Given the description of an element on the screen output the (x, y) to click on. 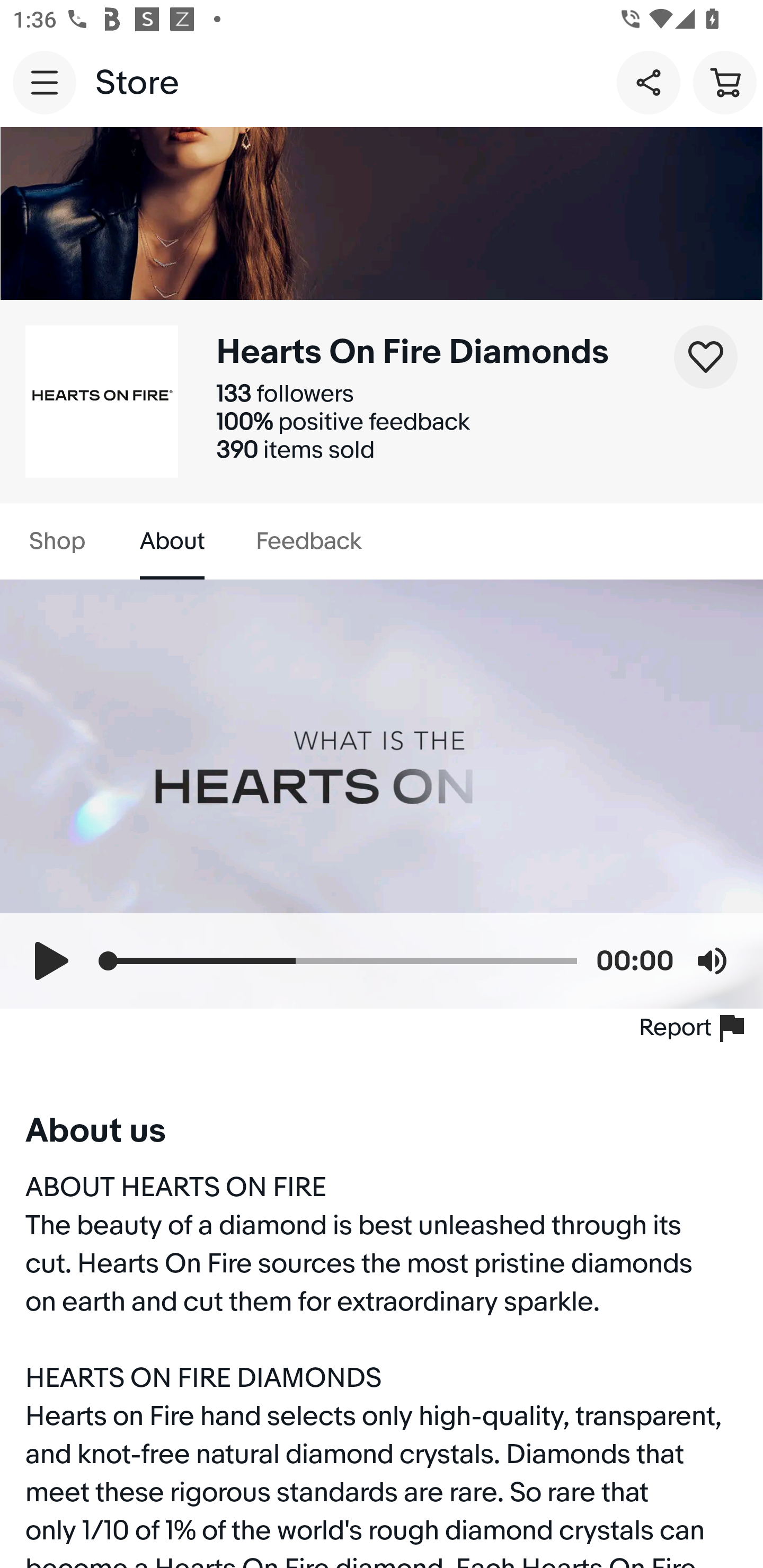
Main navigation, open (44, 82)
Share this page (648, 81)
Cart button shopping cart (724, 81)
Save this seller hearts_on_fire (705, 356)
Shop (57, 541)
Feedback (308, 541)
Play (50, 960)
mute audio (711, 960)
Report (694, 1027)
